Given the description of an element on the screen output the (x, y) to click on. 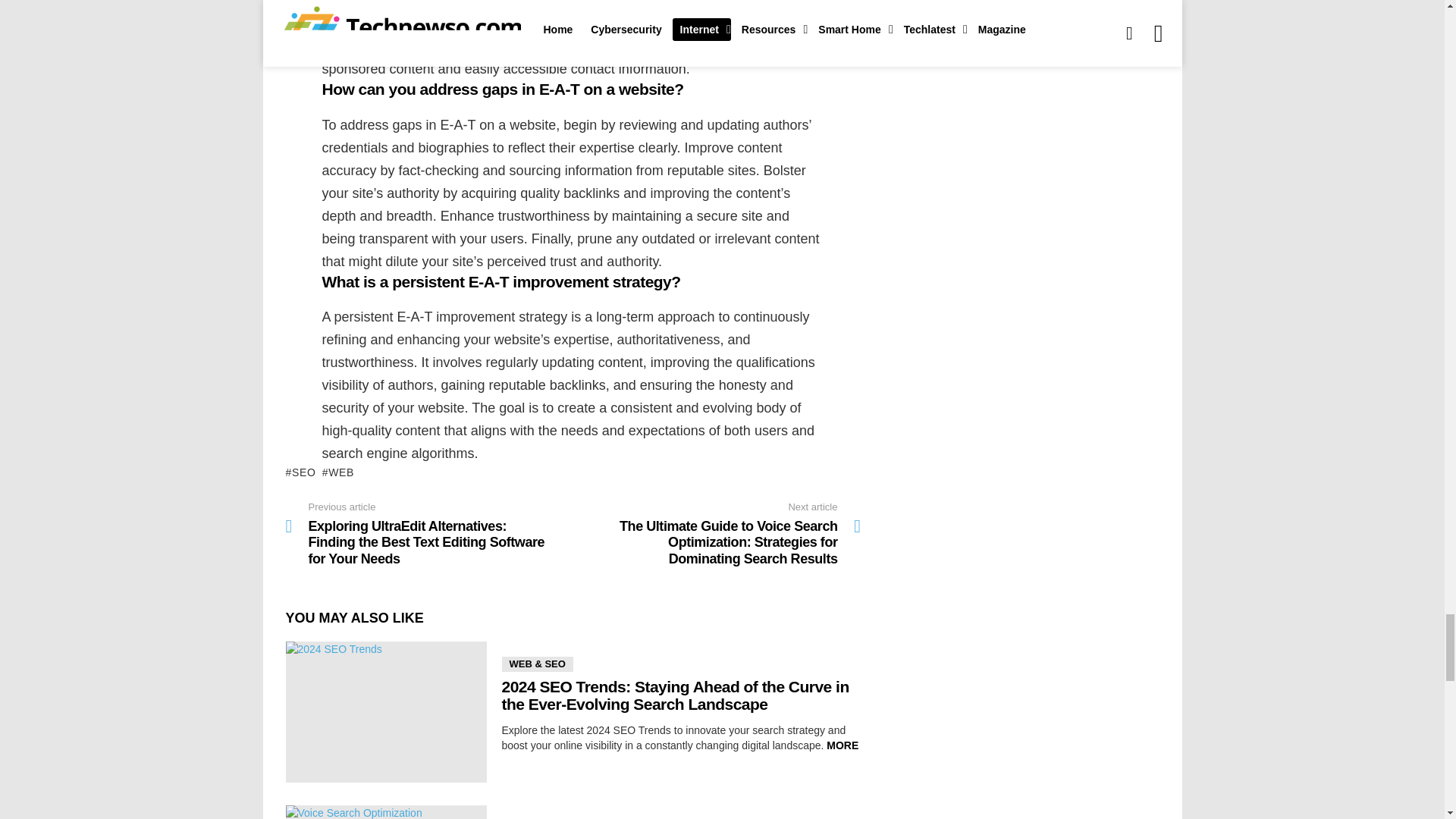
SEO (300, 472)
WEB (338, 472)
